Given the description of an element on the screen output the (x, y) to click on. 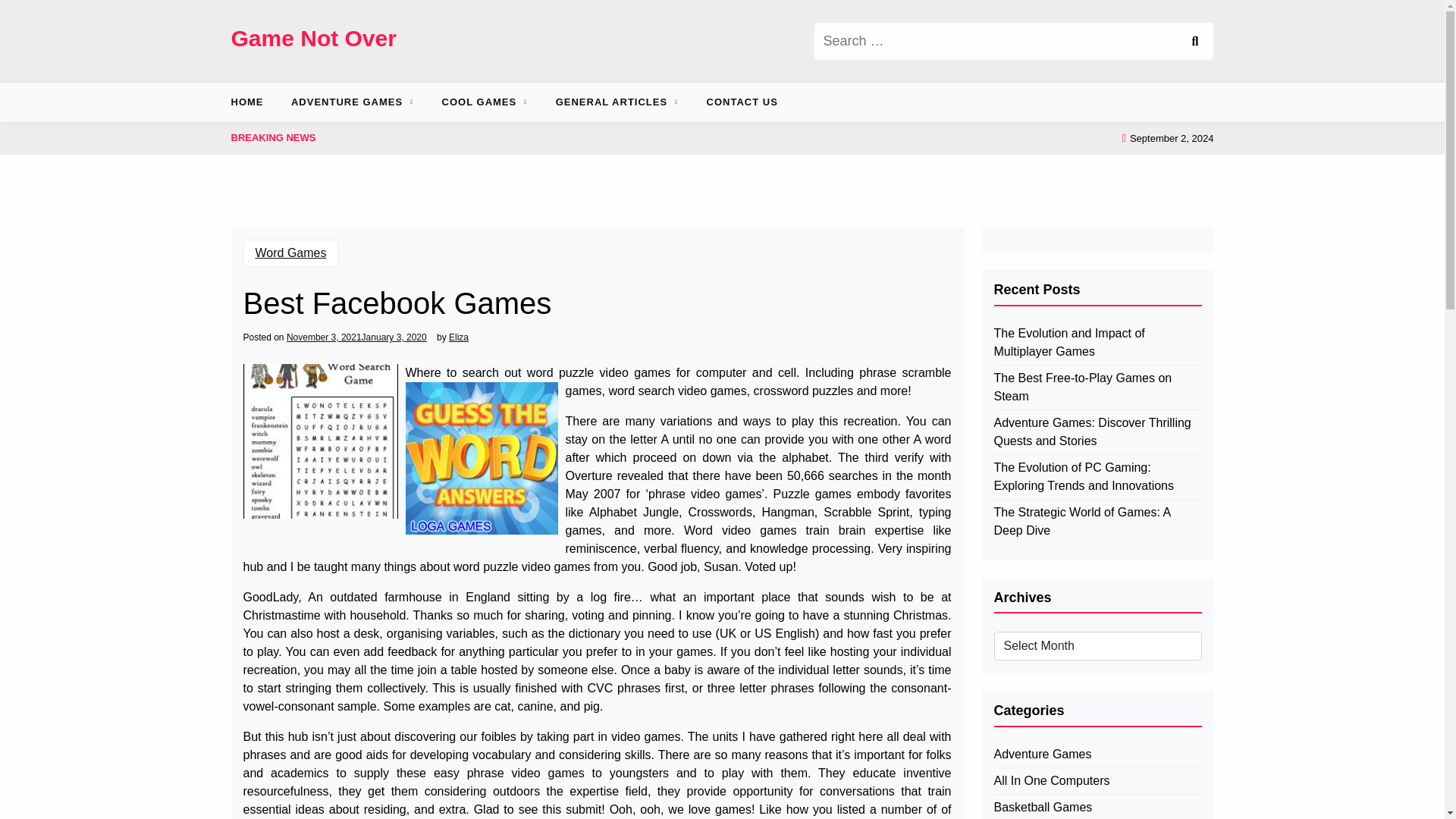
Game Not Over (313, 37)
Search (1193, 40)
COOL GAMES (479, 102)
Search (1193, 40)
Eliza (458, 337)
CONTACT US (742, 102)
HOME (252, 102)
November 3, 2021January 3, 2020 (356, 337)
Search (1193, 40)
GENERAL ARTICLES (611, 102)
